Given the description of an element on the screen output the (x, y) to click on. 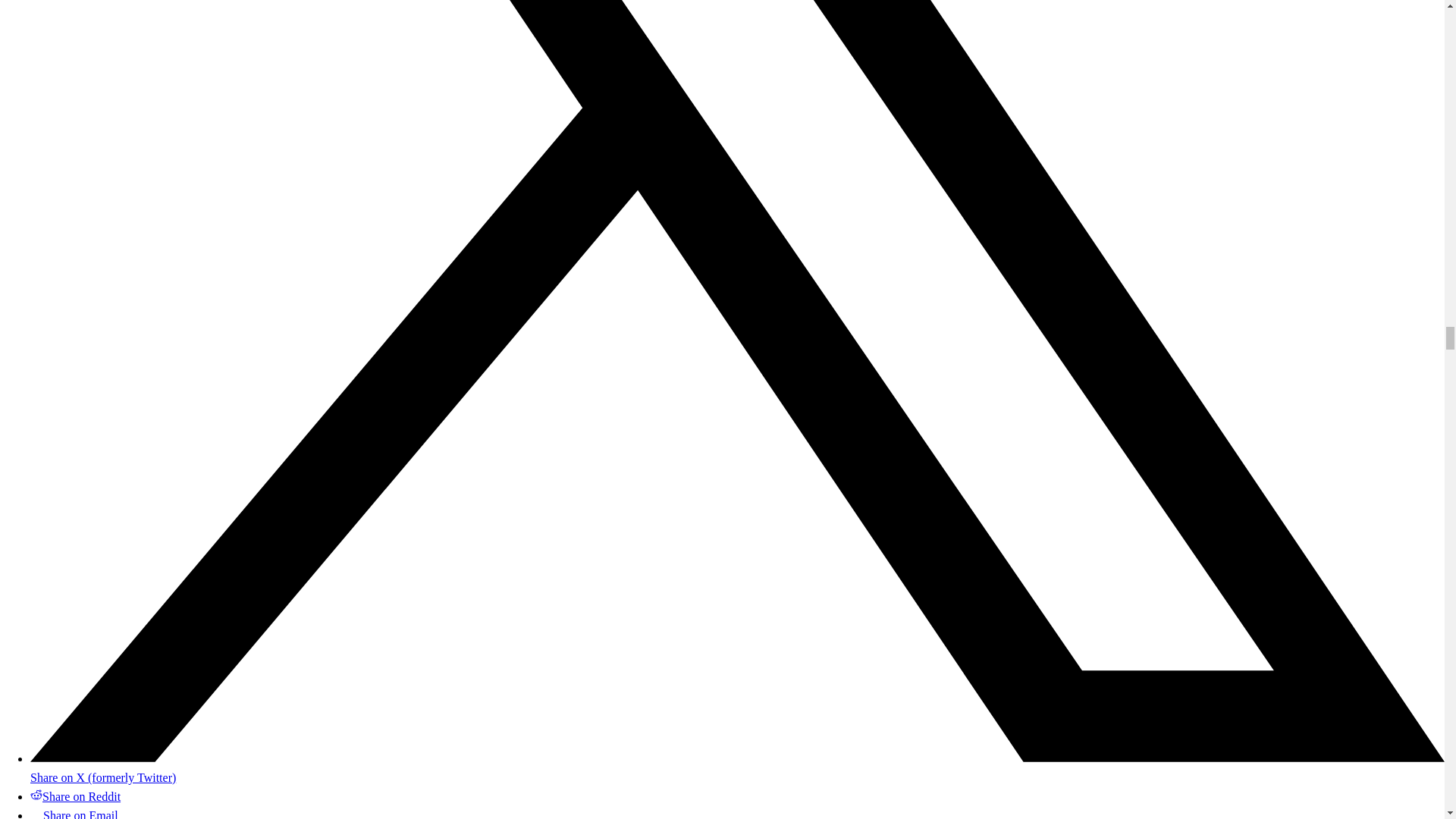
Share on Email (73, 814)
Share on Reddit (75, 796)
